Given the description of an element on the screen output the (x, y) to click on. 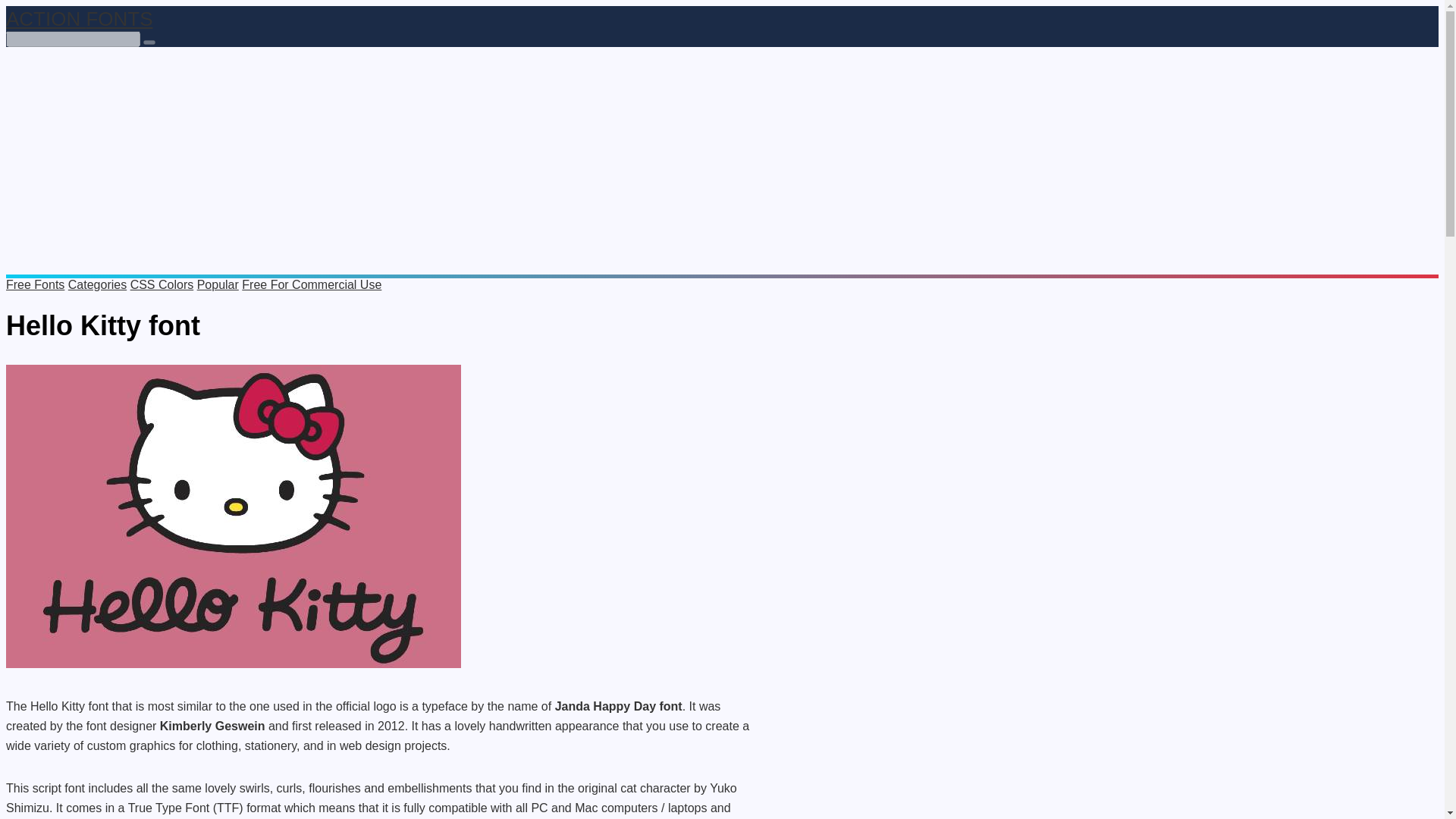
CSS Colors (162, 284)
ACTION FONTS (78, 18)
Free Fonts (34, 284)
Popular (217, 284)
Free For Commercial Use (311, 284)
Categories (97, 284)
